Given the description of an element on the screen output the (x, y) to click on. 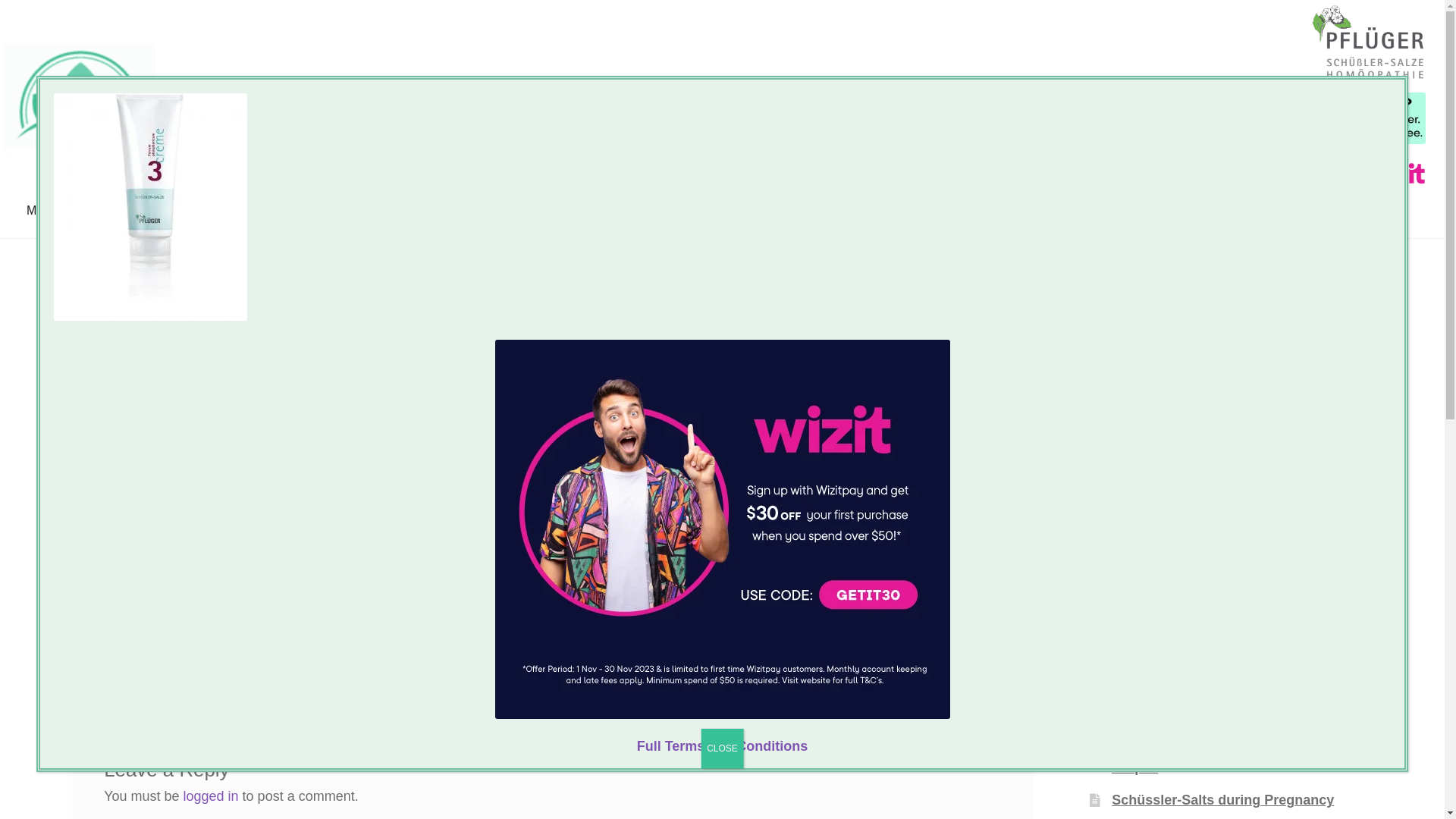
Special Topics Element type: text (415, 210)
Full Terms and Conditions Element type: text (722, 745)
Shop Element type: text (118, 210)
*Tablets, Drops & Globules ONLY Element type: text (1231, 540)
Previous post:
Ferrum-phosphoricum-D-12_Nr_3_Creme-1 Element type: text (199, 648)
CLOSE Element type: text (721, 748)
BUY 10x GET 10% OFF* Element type: text (1231, 518)
logged in Element type: text (210, 795)
Checkout Element type: text (211, 210)
Cart Element type: text (159, 210)
My Account Element type: text (57, 210)
